Given the description of an element on the screen output the (x, y) to click on. 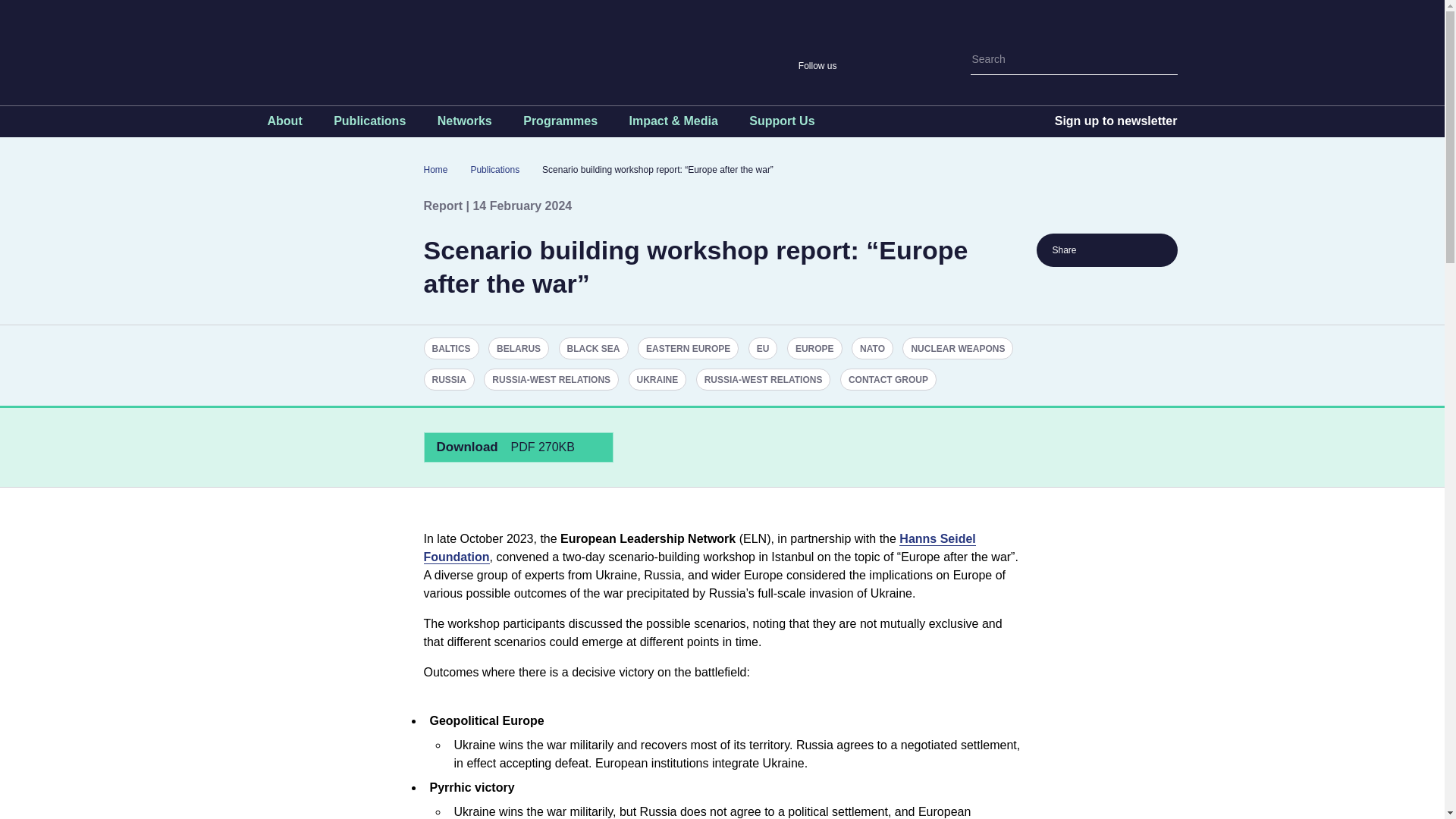
LinkedIn (933, 65)
Facebook (880, 65)
YouTube (906, 65)
Publications (369, 124)
Share on Facebook (1123, 249)
Go to the homepage (486, 46)
Search for posts tagged as: Black Sea (593, 348)
Programmes (559, 124)
Share on Twitter (1098, 249)
About (283, 124)
